Given the description of an element on the screen output the (x, y) to click on. 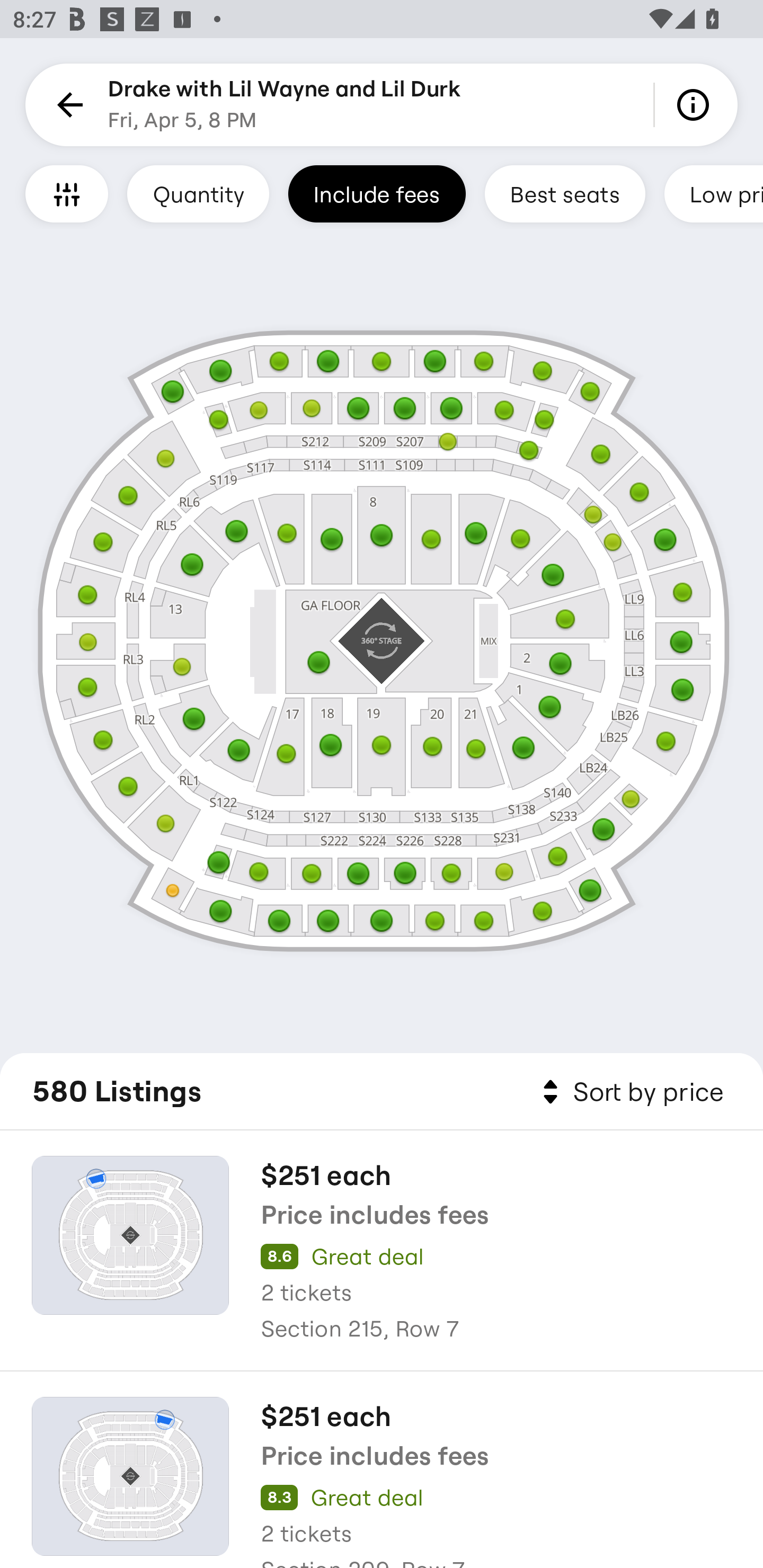
Back (66, 104)
Drake with Lil Wayne and Lil Durk Fri, Apr 5, 8 PM (284, 104)
Info (695, 104)
Filters and Accessible Seating (66, 193)
Quantity (198, 193)
Include fees (376, 193)
Best seats (564, 193)
Sort by price (629, 1091)
